Given the description of an element on the screen output the (x, y) to click on. 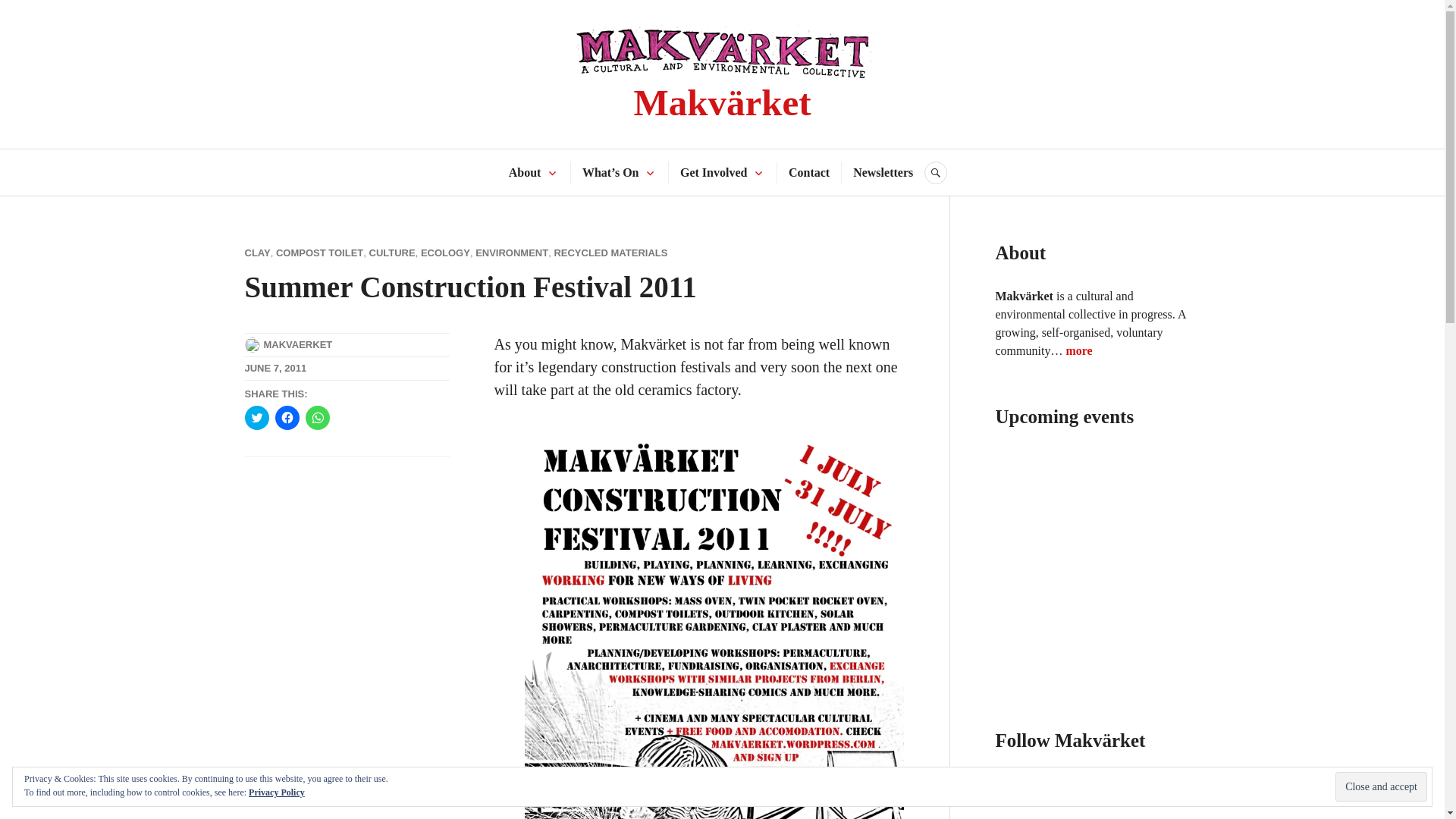
Click to share on Facebook (286, 417)
ENVIRONMENT (512, 252)
CULTURE (391, 252)
JUNE 7, 2011 (274, 367)
Click to share on WhatsApp (316, 417)
ECOLOGY (445, 252)
CLAY (256, 252)
Contact (809, 172)
About (524, 172)
SEARCH (935, 172)
Get Involved (712, 172)
MAKVAERKET (298, 344)
Newsletters (882, 172)
COMPOST TOILET (319, 252)
